Given the description of an element on the screen output the (x, y) to click on. 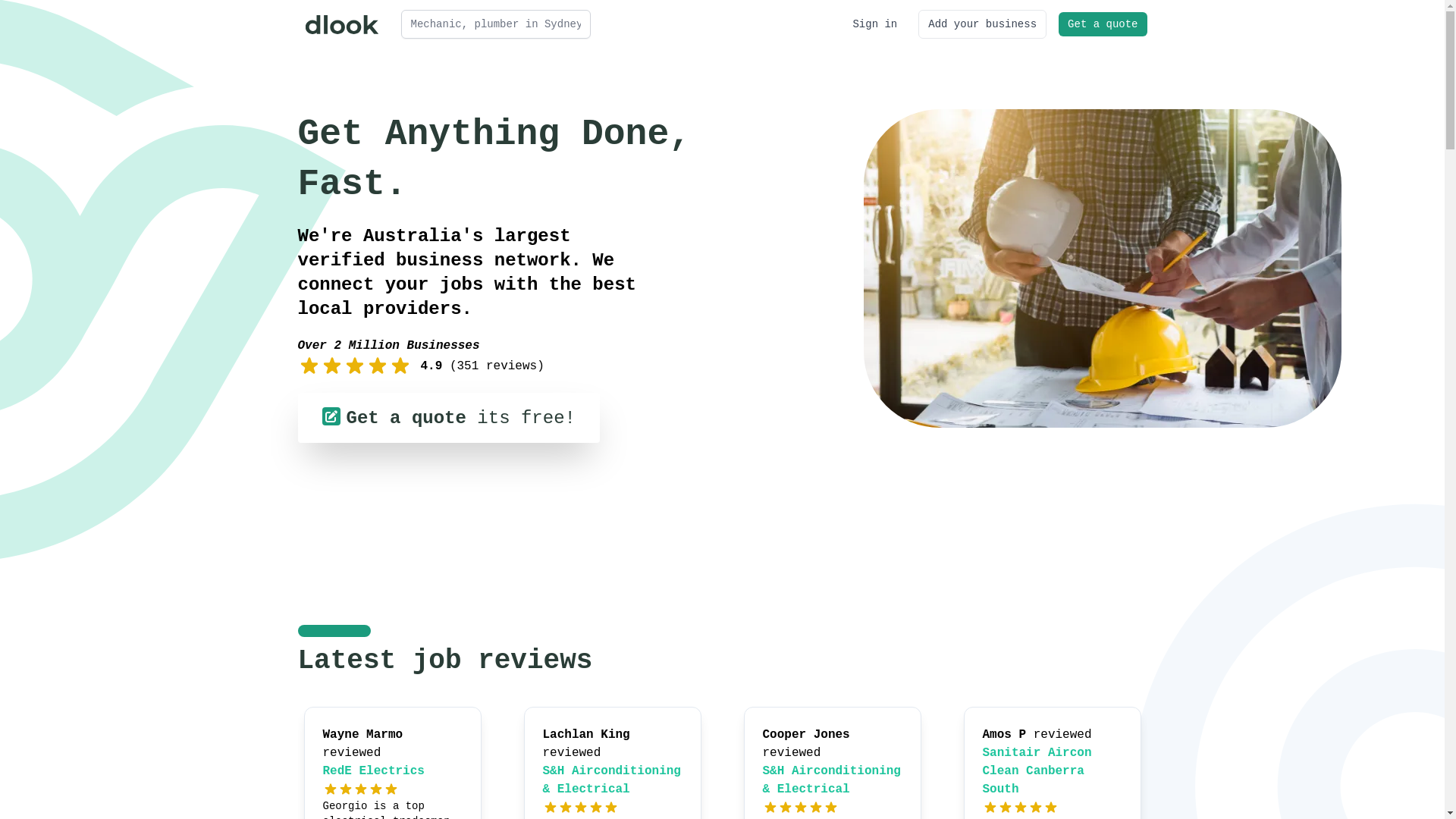
Sign in Element type: text (874, 23)
Get a quote its free! Element type: text (448, 417)
S&H Airconditioning & Electrical Element type: text (611, 780)
RedE Electrics Element type: text (373, 771)
Sanitair Aircon Clean Canberra South Element type: text (1037, 771)
S&H Airconditioning & Electrical Element type: text (831, 780)
Add your business Element type: text (982, 23)
Get a quote Element type: text (1102, 24)
